Given the description of an element on the screen output the (x, y) to click on. 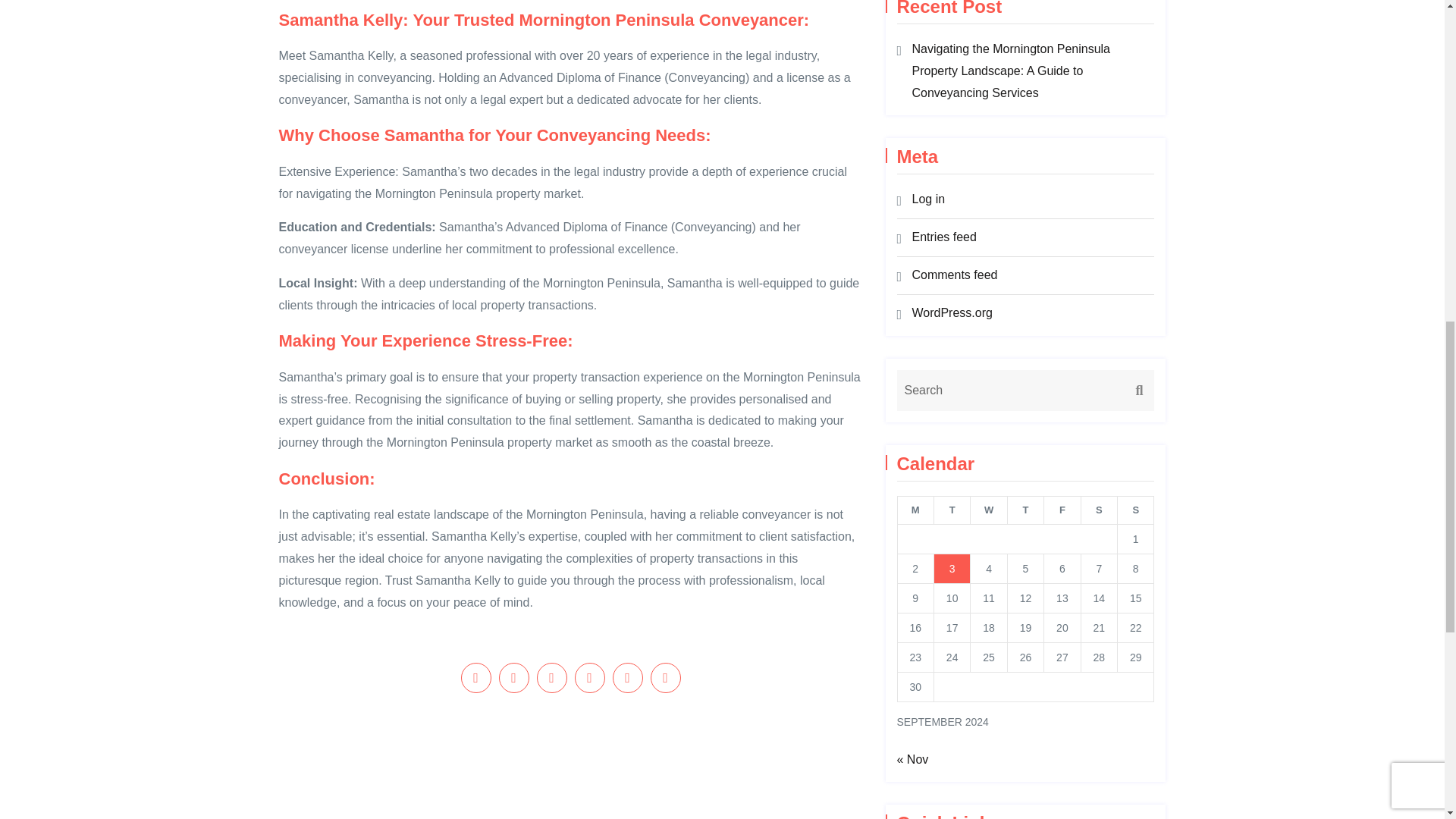
Log in (927, 198)
Sunday (1136, 510)
Wednesday (989, 510)
Search for: (1025, 390)
Comments feed (954, 274)
Entries feed (943, 236)
Monday (914, 510)
Thursday (1025, 510)
Friday (1061, 510)
